Given the description of an element on the screen output the (x, y) to click on. 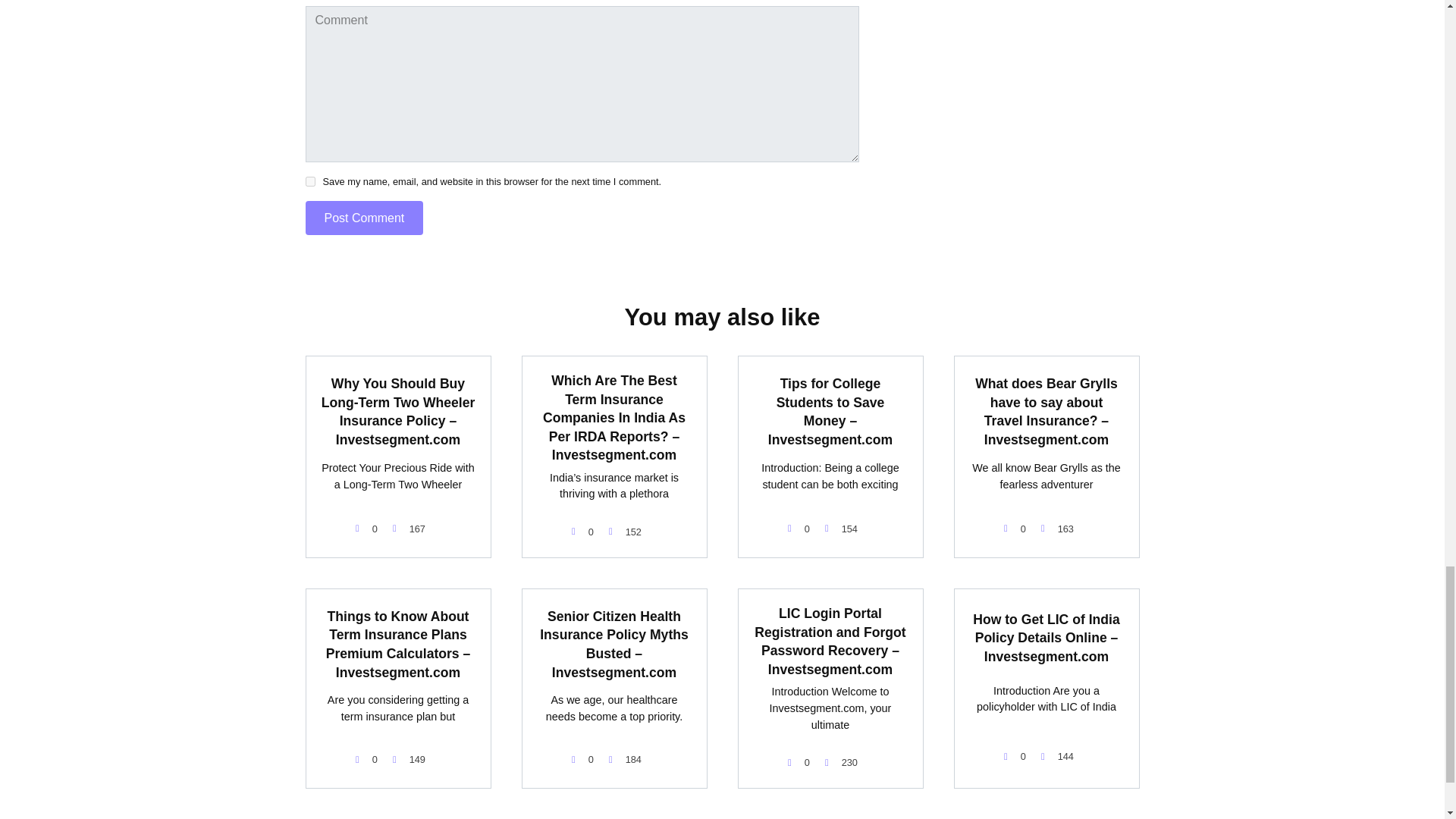
Post Comment (363, 217)
Post Comment (363, 217)
yes (309, 181)
